Given the description of an element on the screen output the (x, y) to click on. 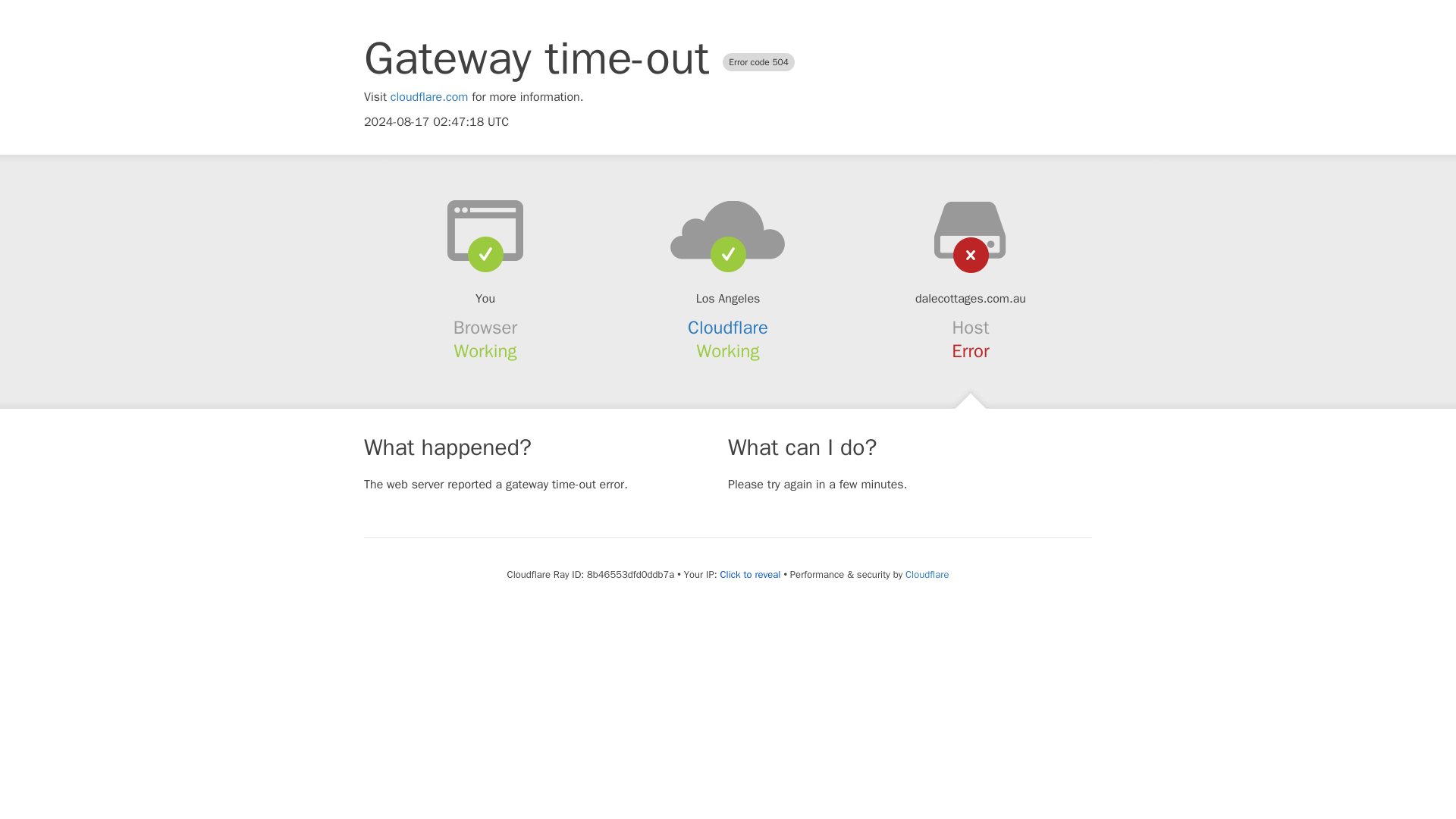
Cloudflare (927, 574)
Cloudflare (727, 327)
cloudflare.com (429, 96)
Click to reveal (750, 574)
